Given the description of an element on the screen output the (x, y) to click on. 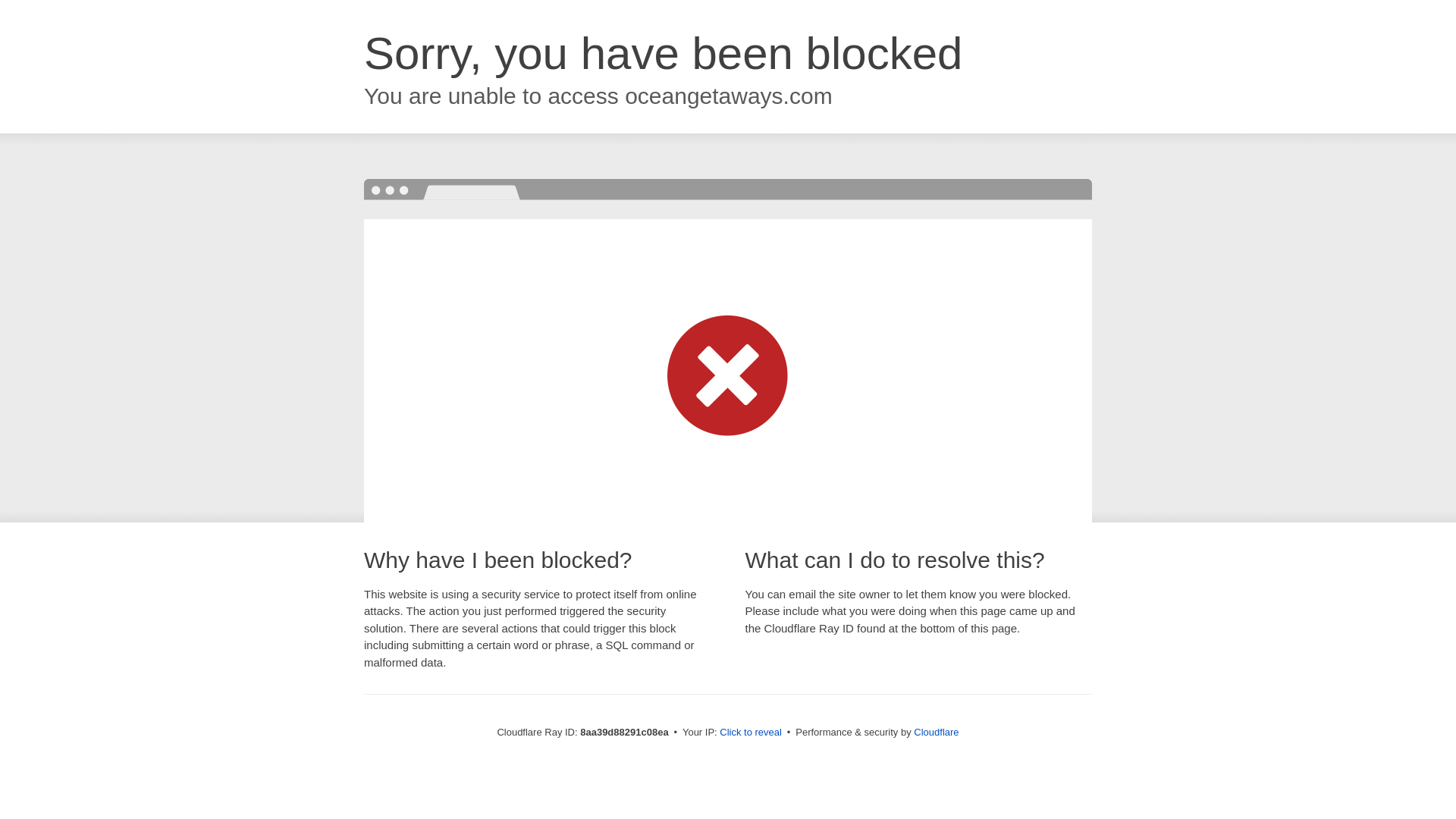
Click to reveal (750, 732)
Cloudflare (936, 731)
